Given the description of an element on the screen output the (x, y) to click on. 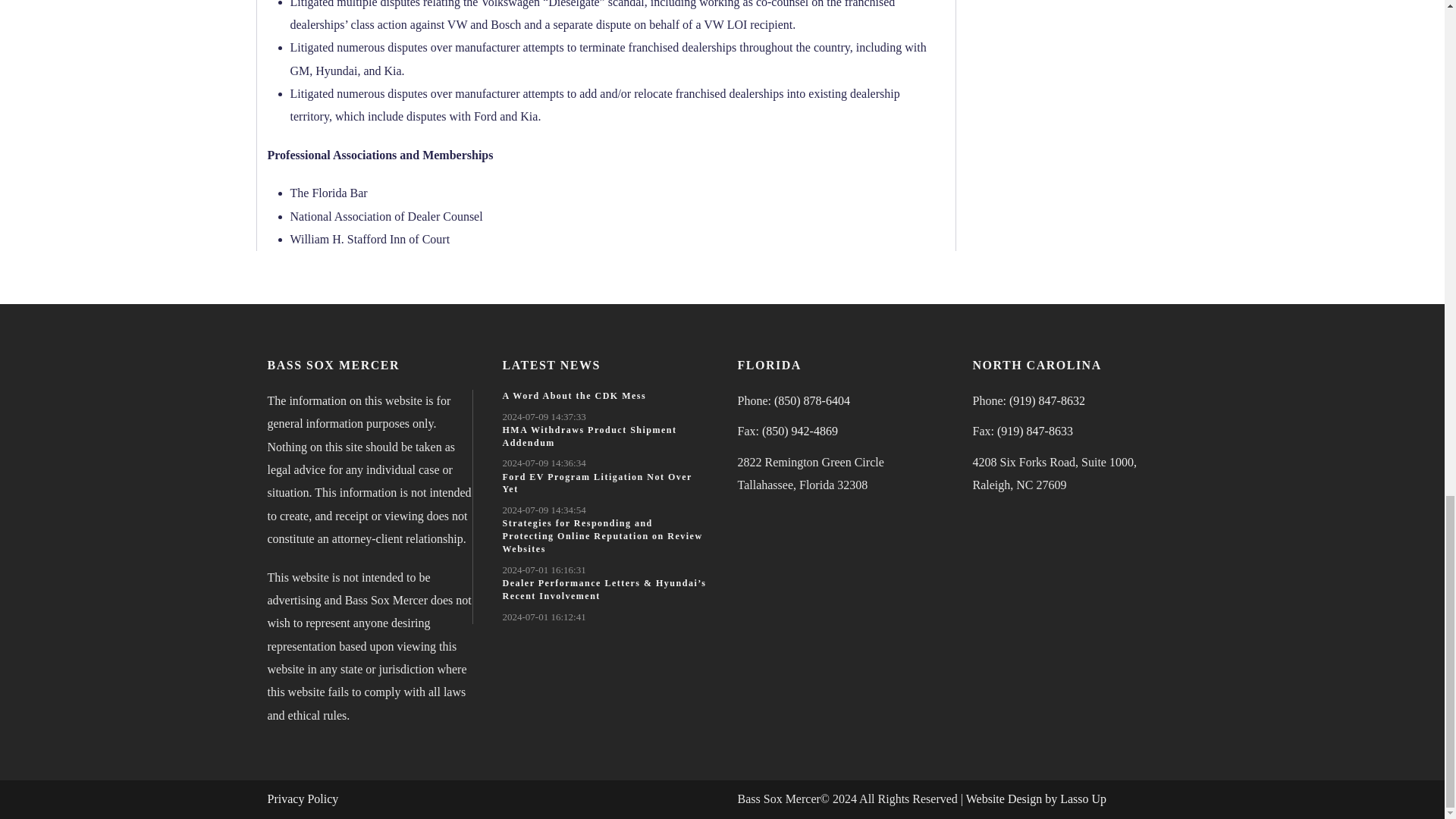
A Word About the CDK Mess (574, 395)
HMA Withdraws Product Shipment Addendum (589, 436)
Website Design by Lasso Up (1036, 798)
Ford EV Program Litigation Not Over Yet (596, 483)
Privacy Policy (301, 798)
